Given the description of an element on the screen output the (x, y) to click on. 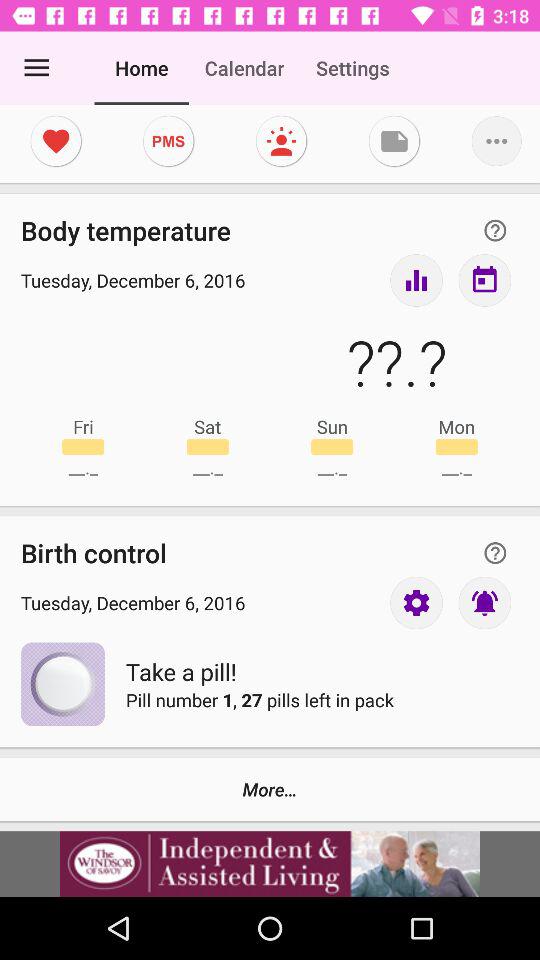
quiton mark (495, 552)
